Given the description of an element on the screen output the (x, y) to click on. 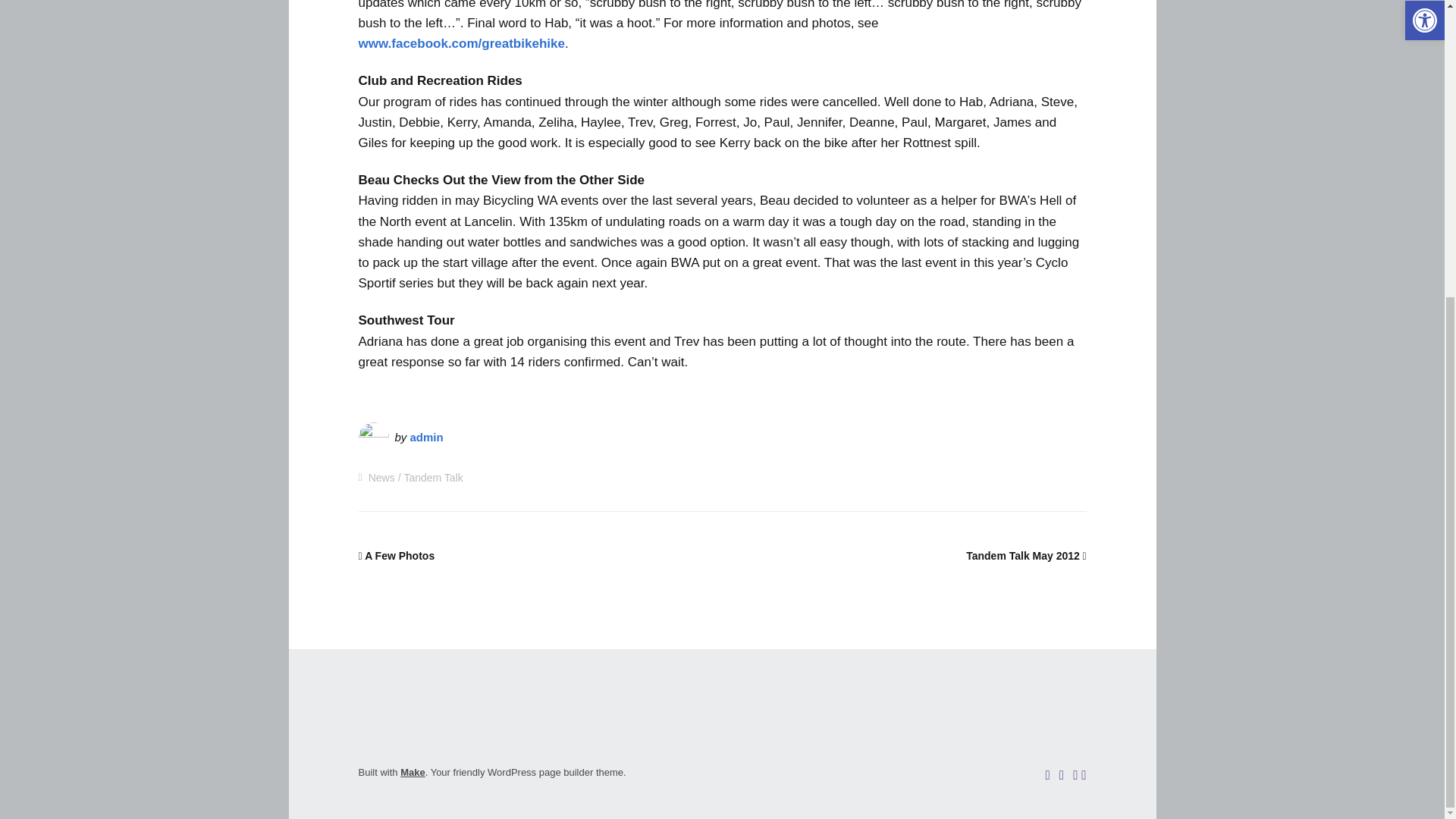
Tandem Talk May 2012 (1026, 555)
A Few Photos (395, 555)
Tandem Talk (433, 477)
admin (427, 436)
News (381, 477)
Make (412, 772)
